Given the description of an element on the screen output the (x, y) to click on. 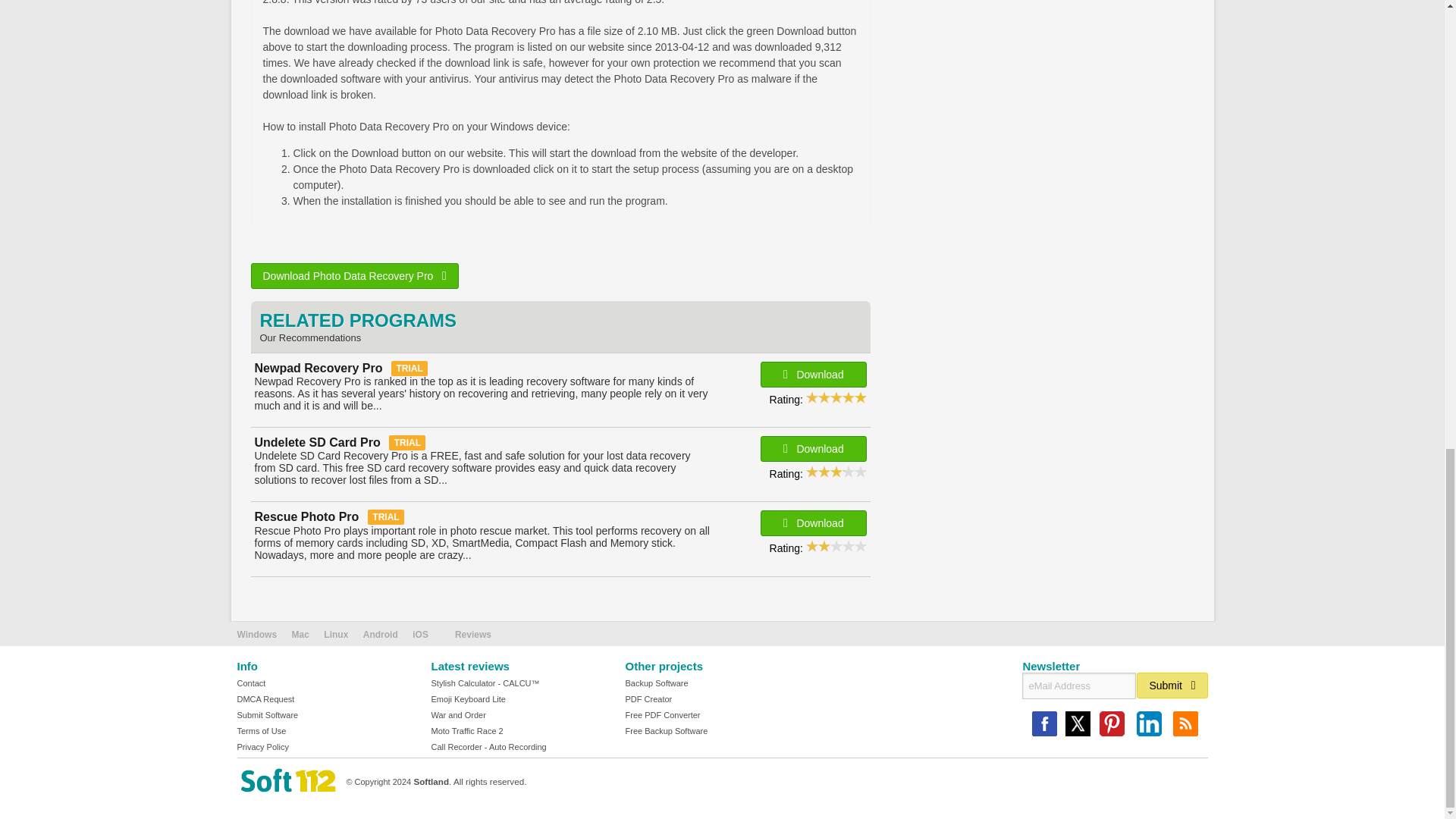
Download Photo Data Recovery Pro   (354, 275)
  Download (813, 374)
  Download (813, 523)
  Download (813, 448)
